Given the description of an element on the screen output the (x, y) to click on. 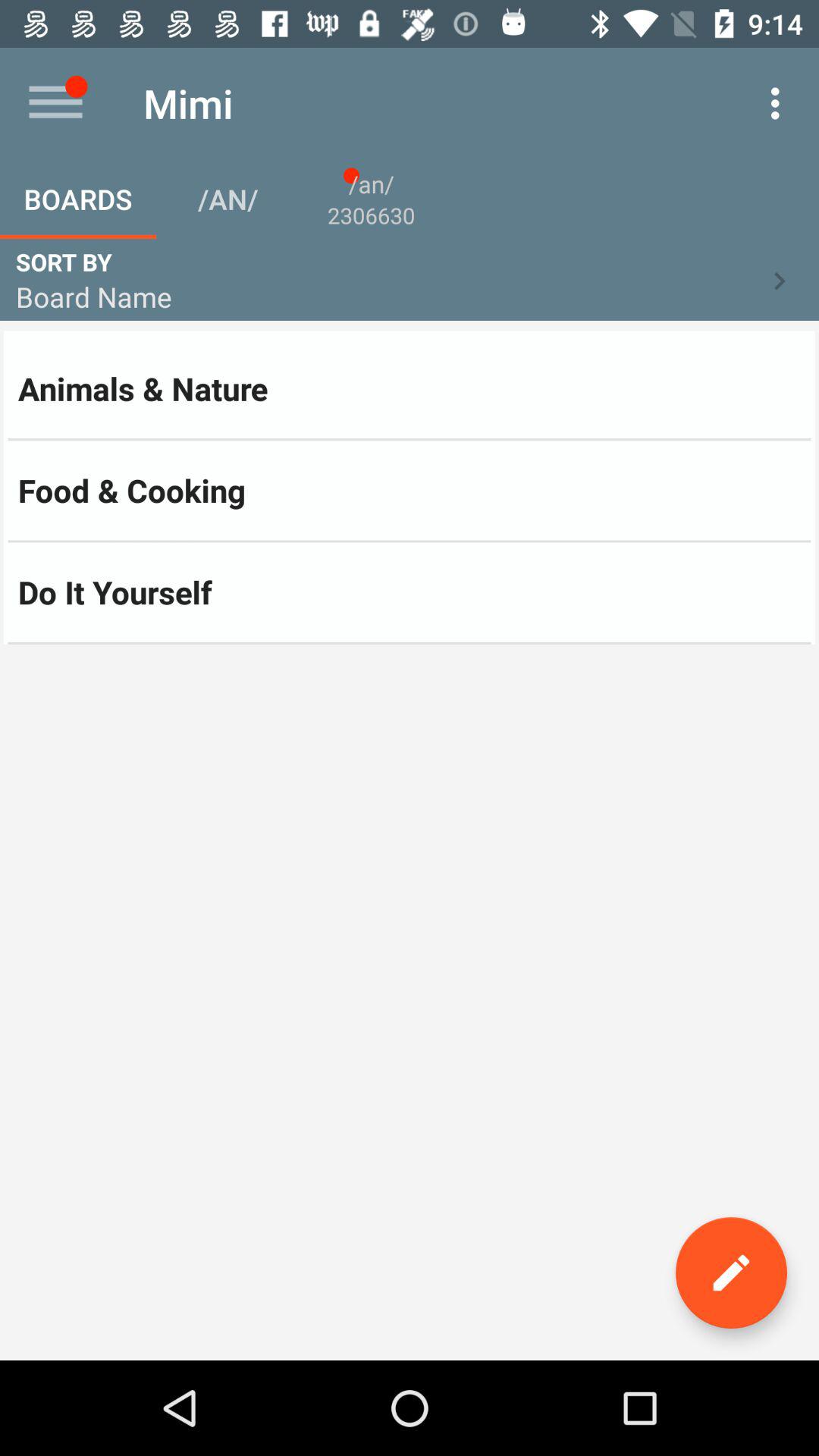
launch the item next to the mimi item (55, 103)
